Given the description of an element on the screen output the (x, y) to click on. 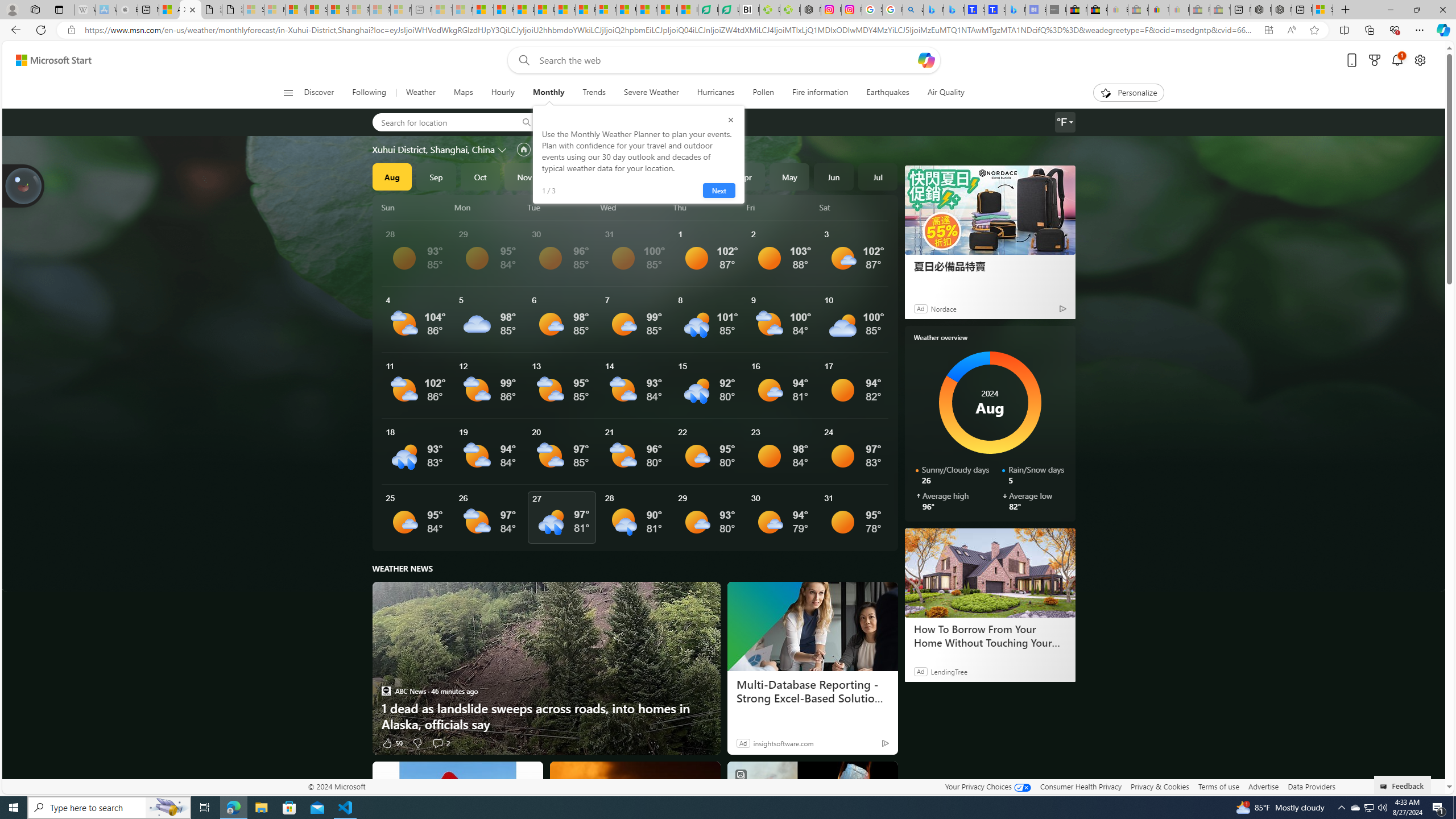
Payments Terms of Use | eBay.com - Sleeping (1178, 9)
Nov (523, 176)
Oct (480, 176)
Fire information (820, 92)
